Given the description of an element on the screen output the (x, y) to click on. 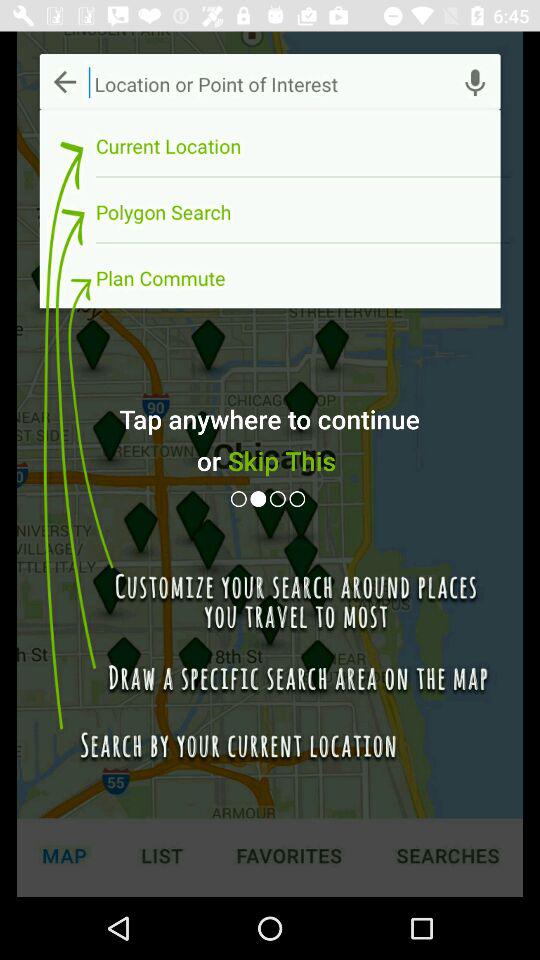
swipe to next slide (260, 498)
